Given the description of an element on the screen output the (x, y) to click on. 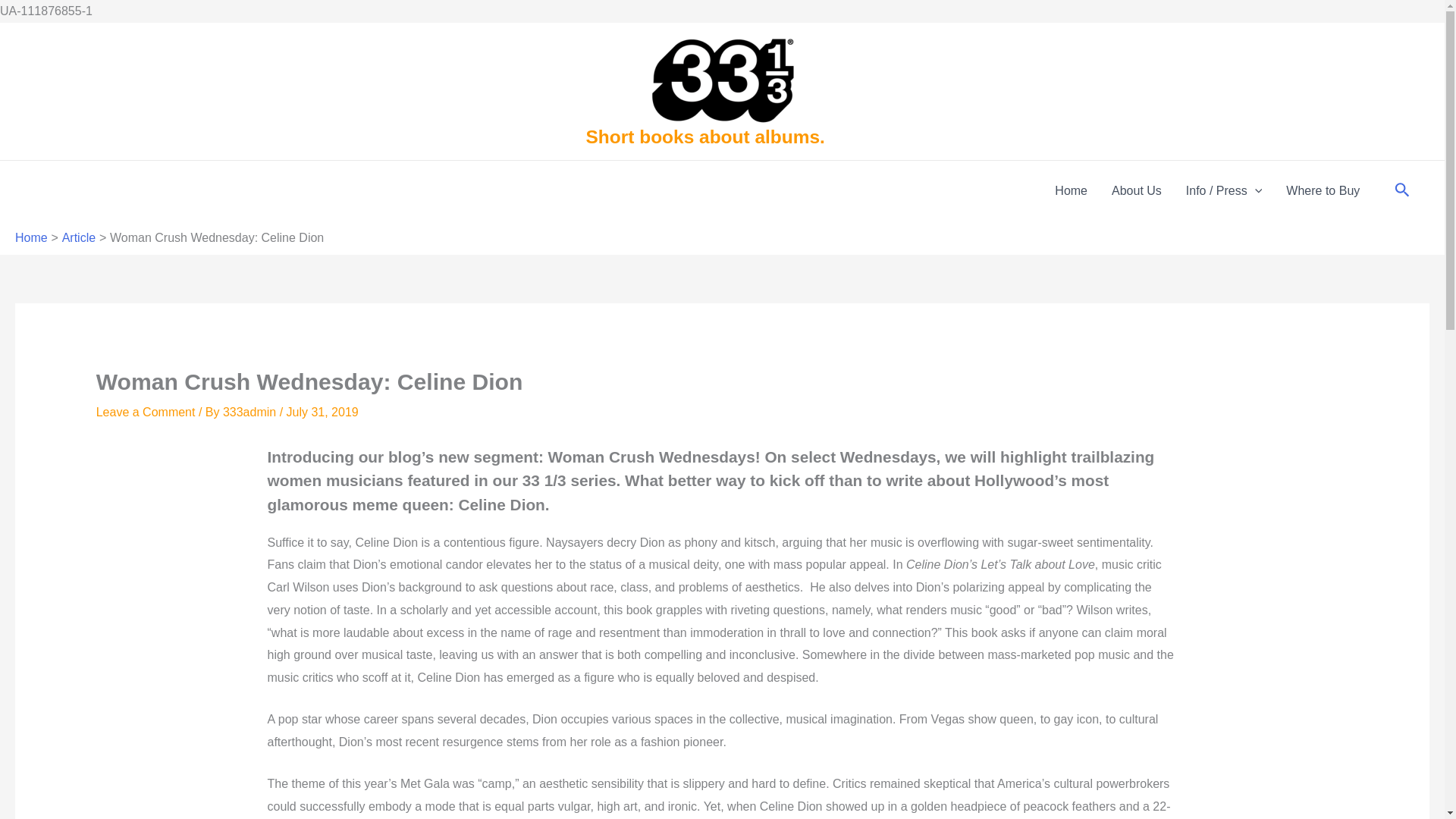
View all posts by 333admin (250, 411)
Home (31, 237)
About Us (1136, 190)
Where to Buy (1322, 190)
Article (79, 237)
Leave a Comment (145, 411)
333admin (250, 411)
Short books about albums. (704, 136)
Home (1070, 190)
